Given the description of an element on the screen output the (x, y) to click on. 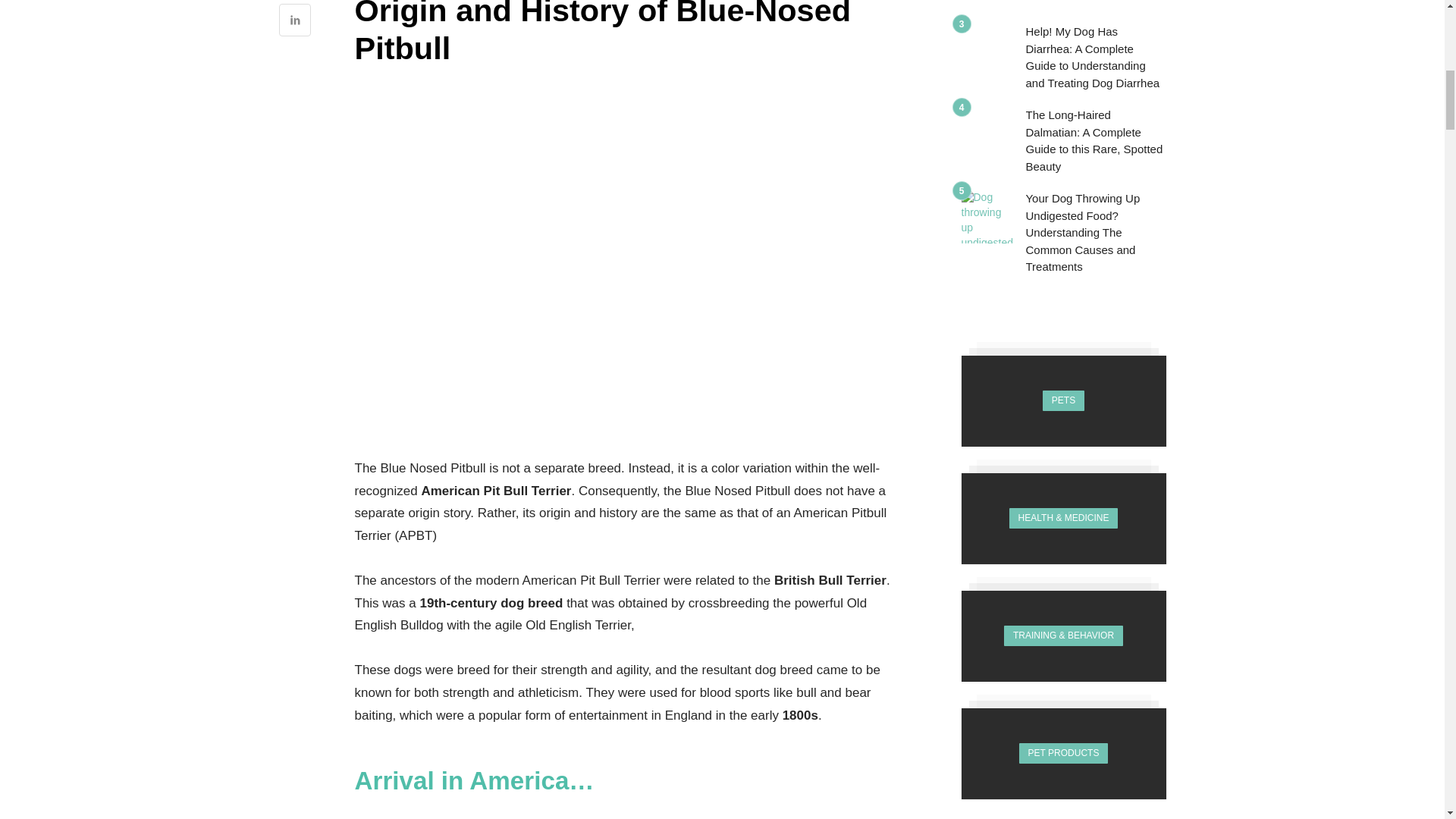
Share on Linkedin (295, 22)
